Given the description of an element on the screen output the (x, y) to click on. 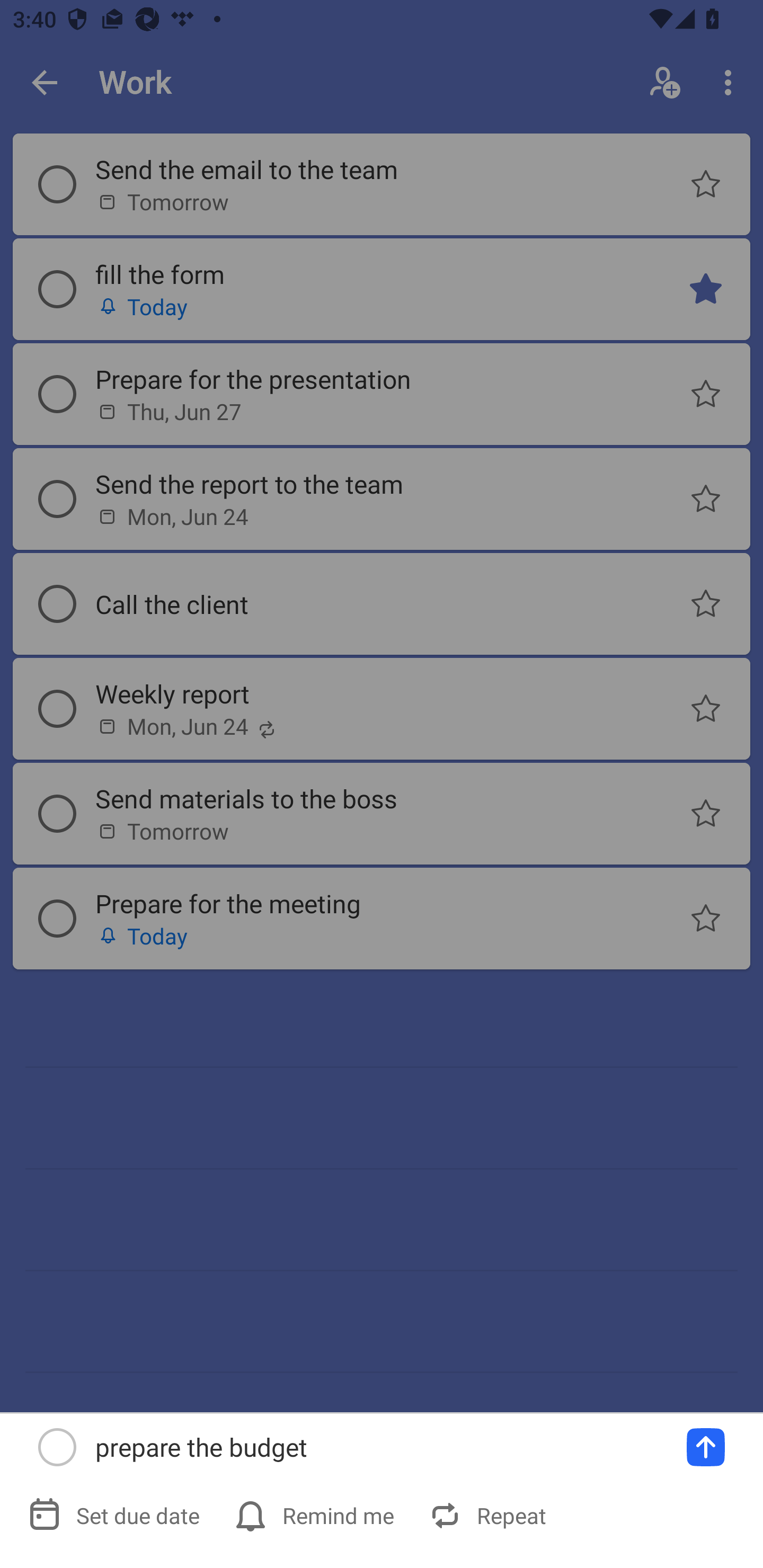
Set due date (115, 1515)
